Given the description of an element on the screen output the (x, y) to click on. 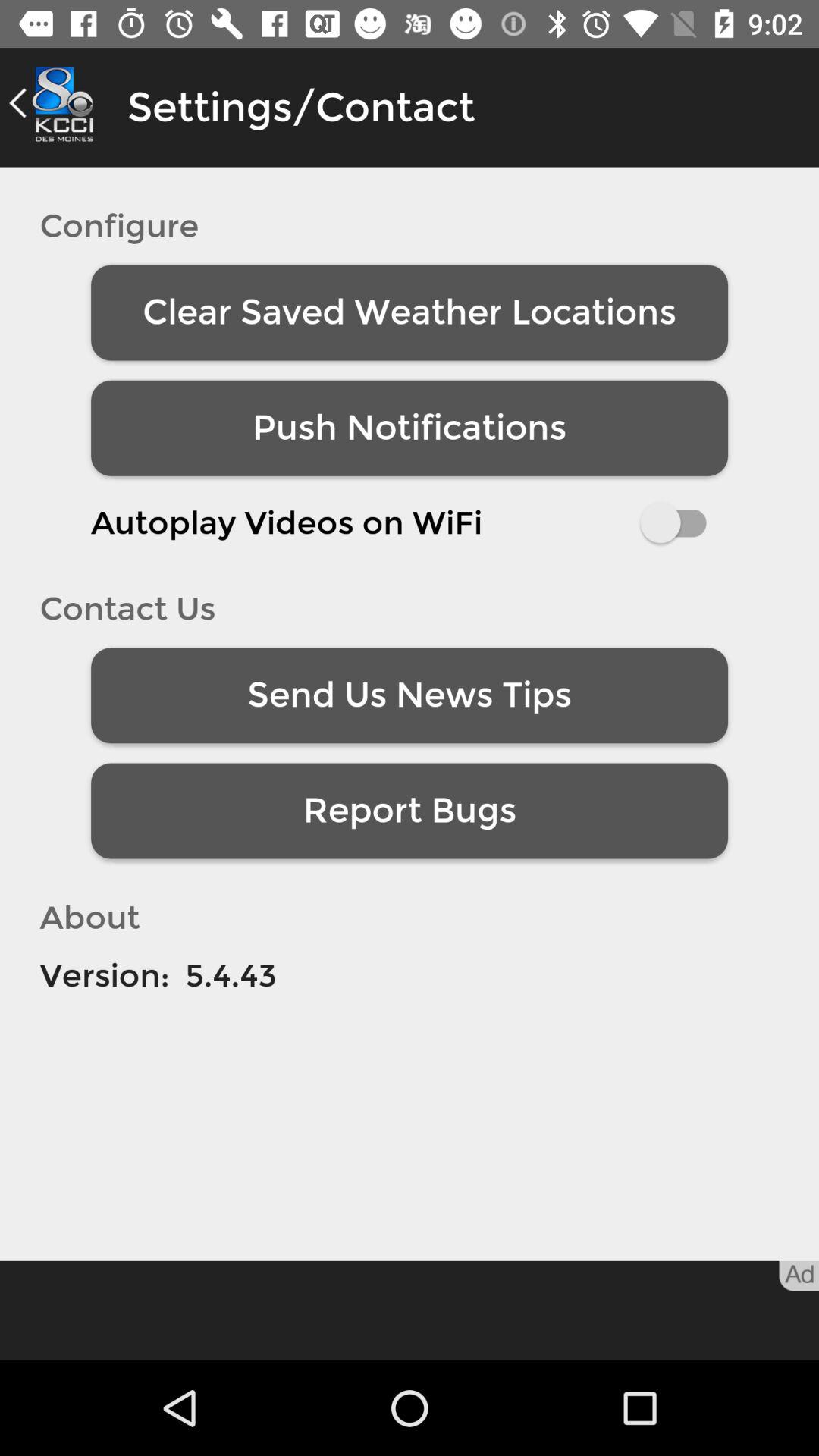
scroll until the clear saved weather (409, 312)
